Given the description of an element on the screen output the (x, y) to click on. 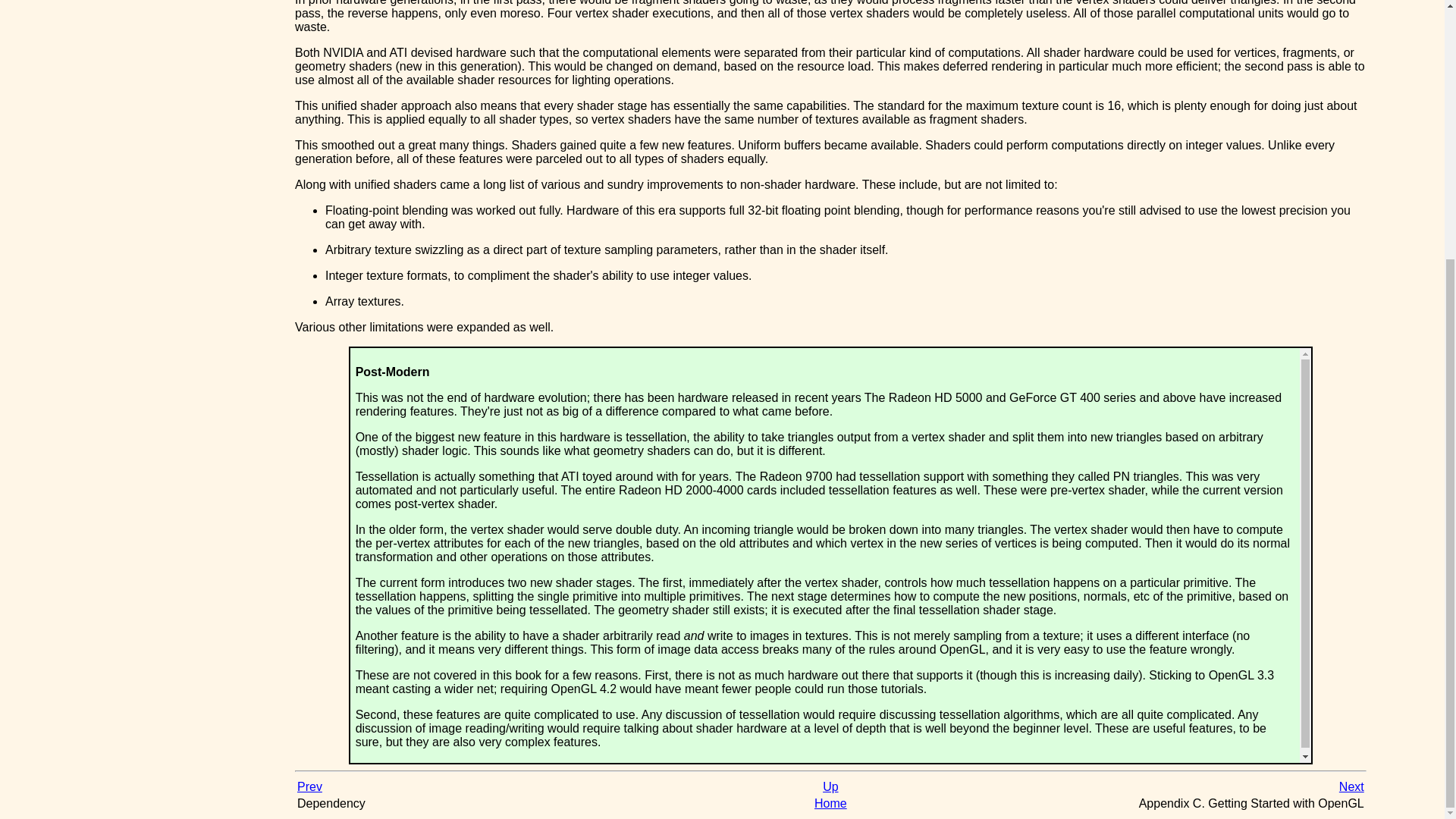
Up (830, 786)
Prev (309, 786)
Home (830, 802)
Next (1351, 786)
